Given the description of an element on the screen output the (x, y) to click on. 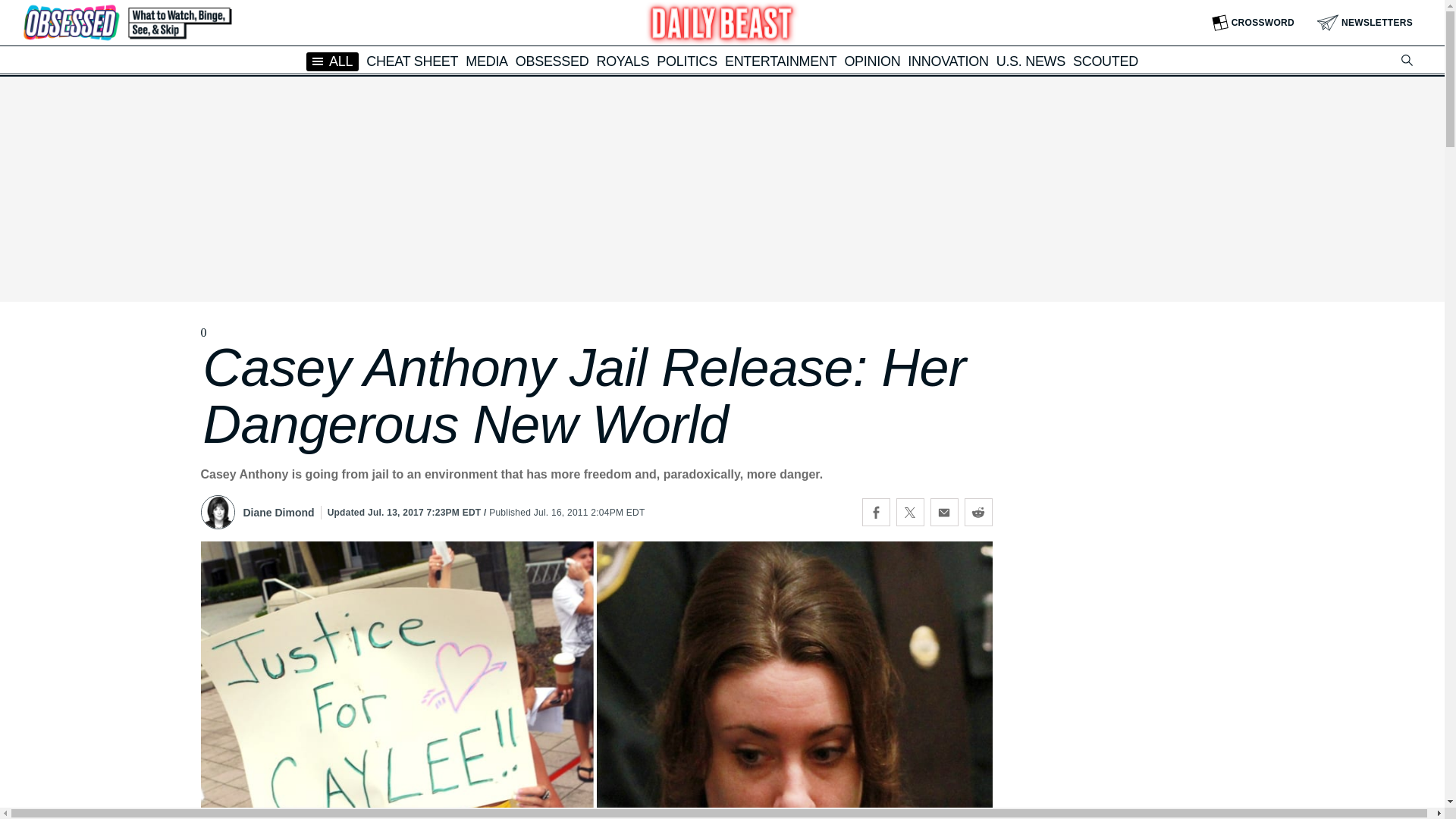
MEDIA (486, 60)
OPINION (871, 60)
ALL (331, 60)
ROYALS (622, 60)
INNOVATION (947, 60)
ENTERTAINMENT (780, 60)
NEWSLETTERS (1364, 22)
POLITICS (686, 60)
CHEAT SHEET (412, 60)
CROSSWORD (1252, 22)
U.S. NEWS (1030, 60)
SCOUTED (1105, 60)
OBSESSED (552, 60)
